Given the description of an element on the screen output the (x, y) to click on. 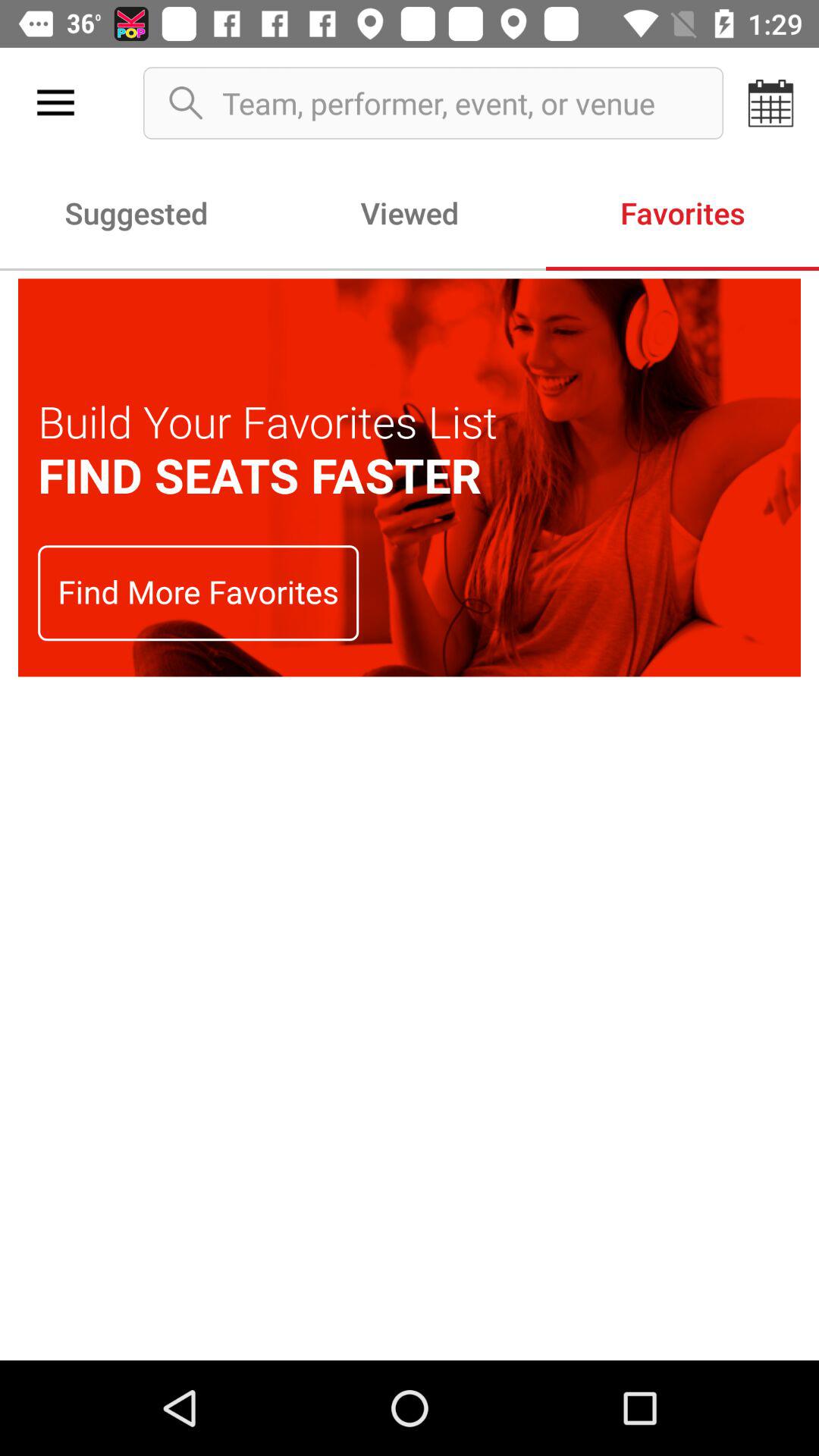
tap item next to the suggested item (409, 212)
